Given the description of an element on the screen output the (x, y) to click on. 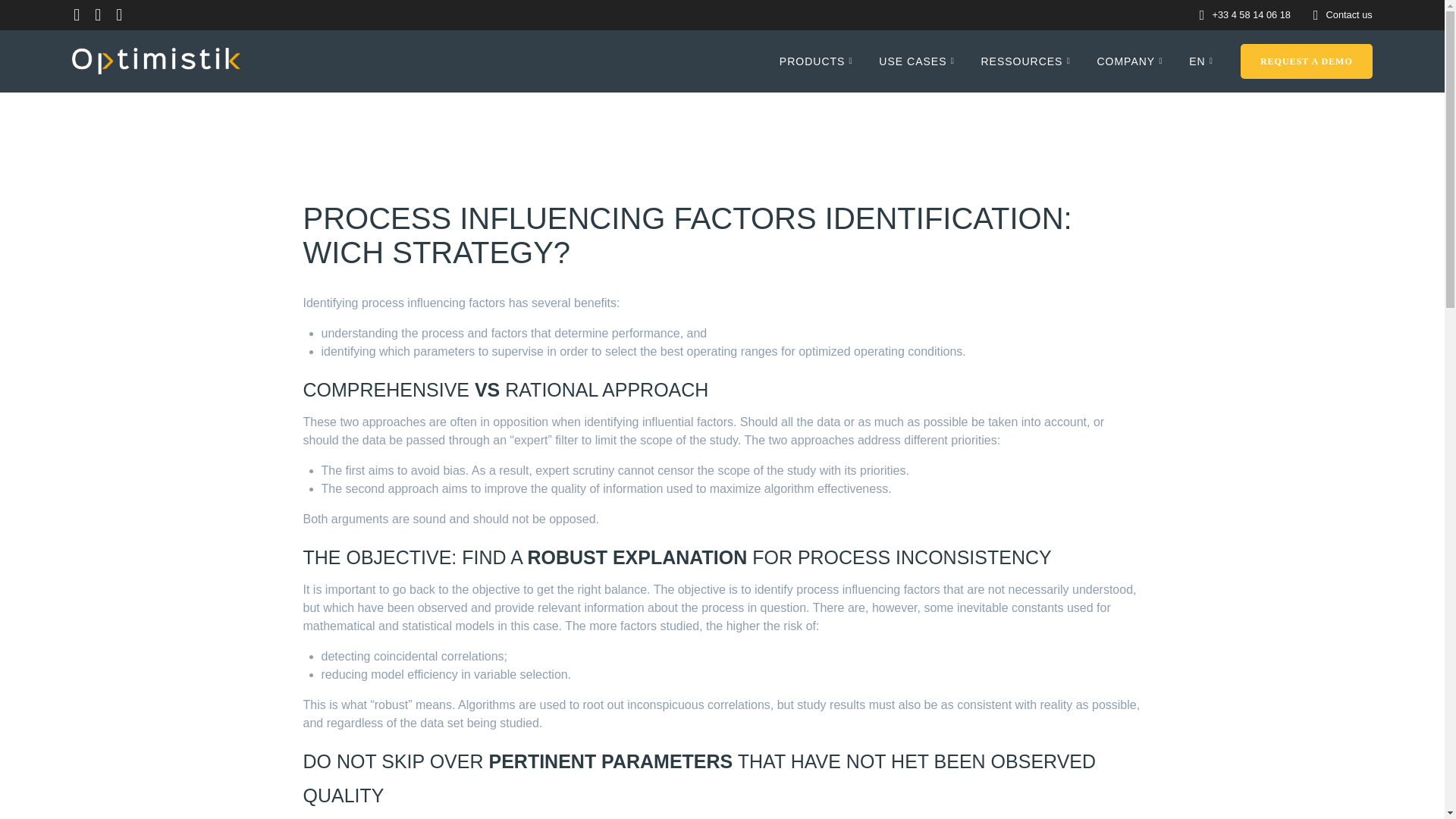
COMPANY (1132, 61)
USE CASES (919, 61)
EN (1203, 61)
PRODUCTS (818, 61)
Contact us (1349, 14)
RESSOURCES (1027, 61)
